Given the description of an element on the screen output the (x, y) to click on. 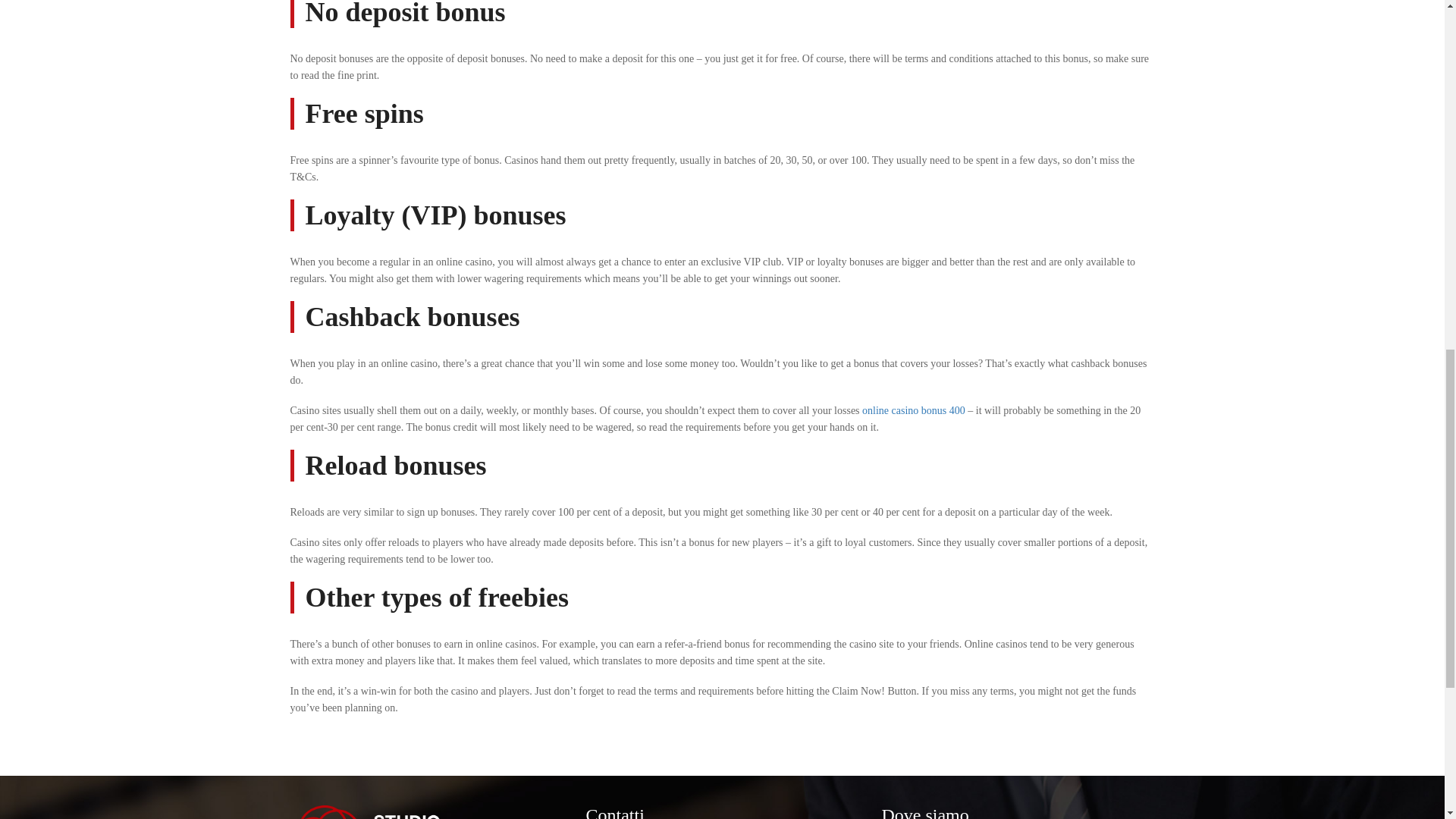
online casino bonus 400 (913, 410)
